Given the description of an element on the screen output the (x, y) to click on. 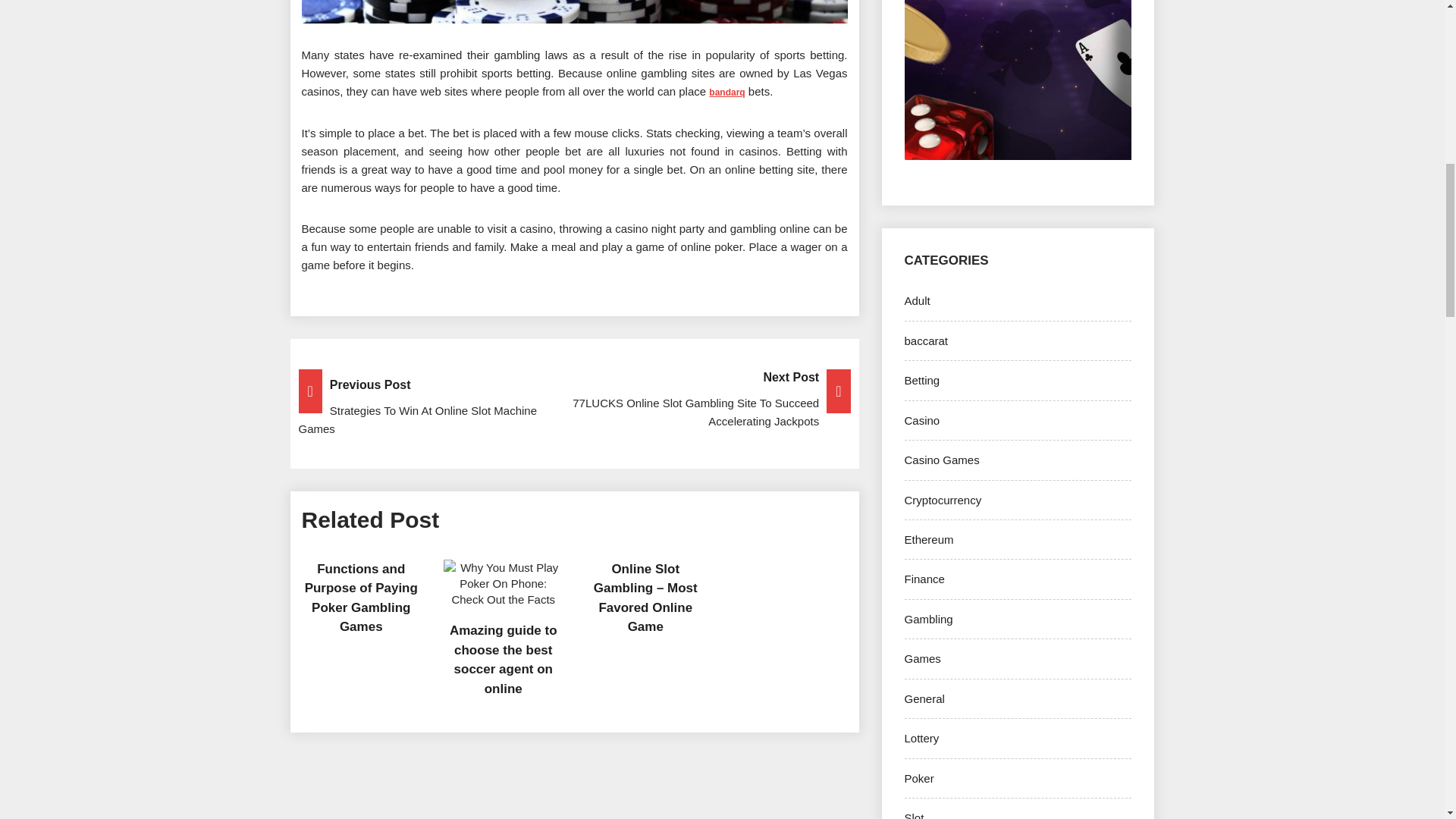
baccarat (925, 340)
Amazing guide to choose the best soccer agent on online (503, 659)
Games (922, 658)
Gambling (928, 618)
General (923, 698)
Casino (921, 420)
bandarq (726, 91)
Adult (917, 300)
Ethereum (928, 539)
Cryptocurrency (942, 499)
